Given the description of an element on the screen output the (x, y) to click on. 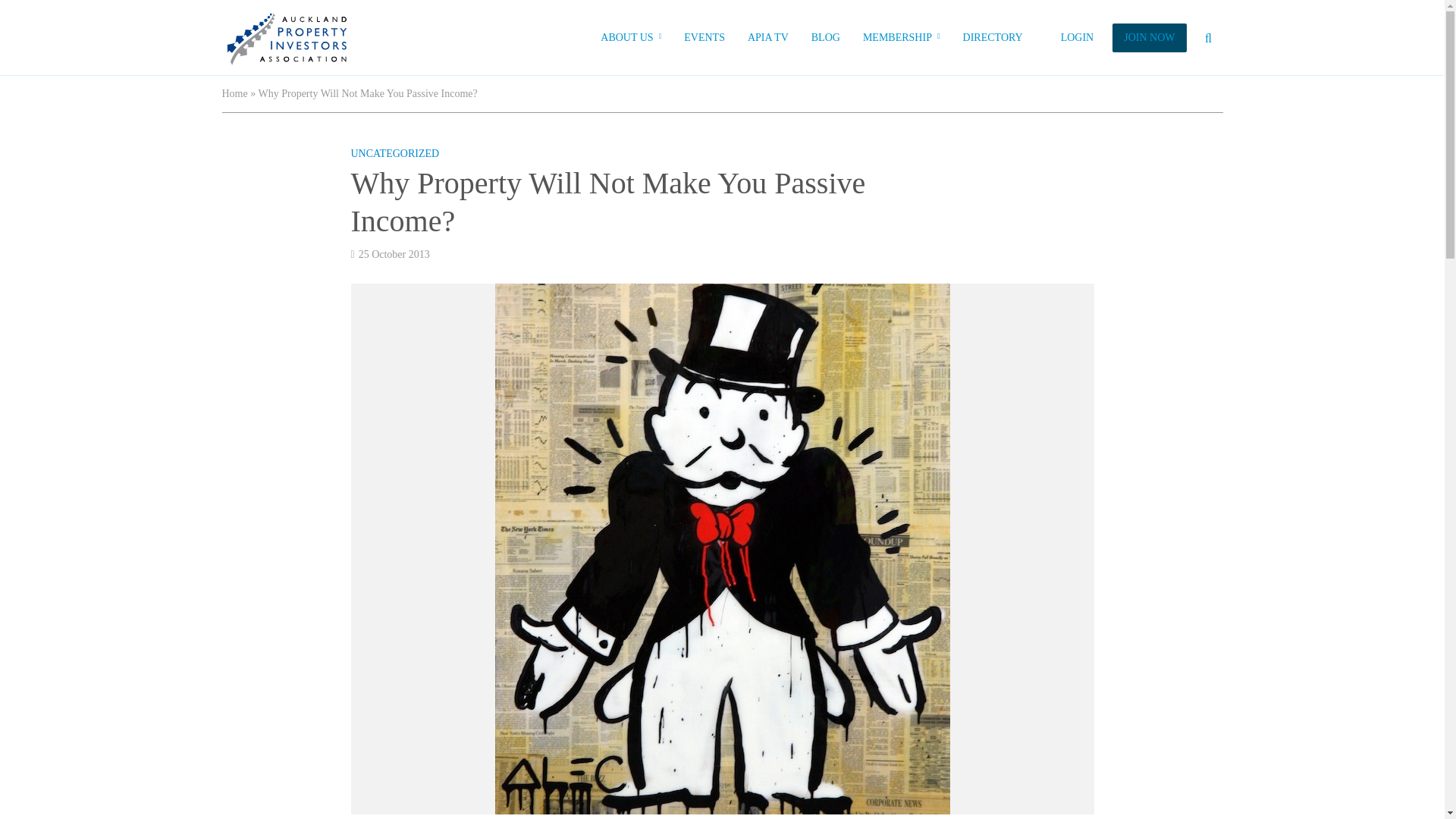
APIA TV (767, 37)
DIRECTORY (992, 37)
BLOG (825, 37)
EVENTS (704, 37)
LOGIN (1077, 37)
MEMBERSHIP (901, 37)
ABOUT US (630, 37)
JOIN NOW (1149, 37)
